Given the description of an element on the screen output the (x, y) to click on. 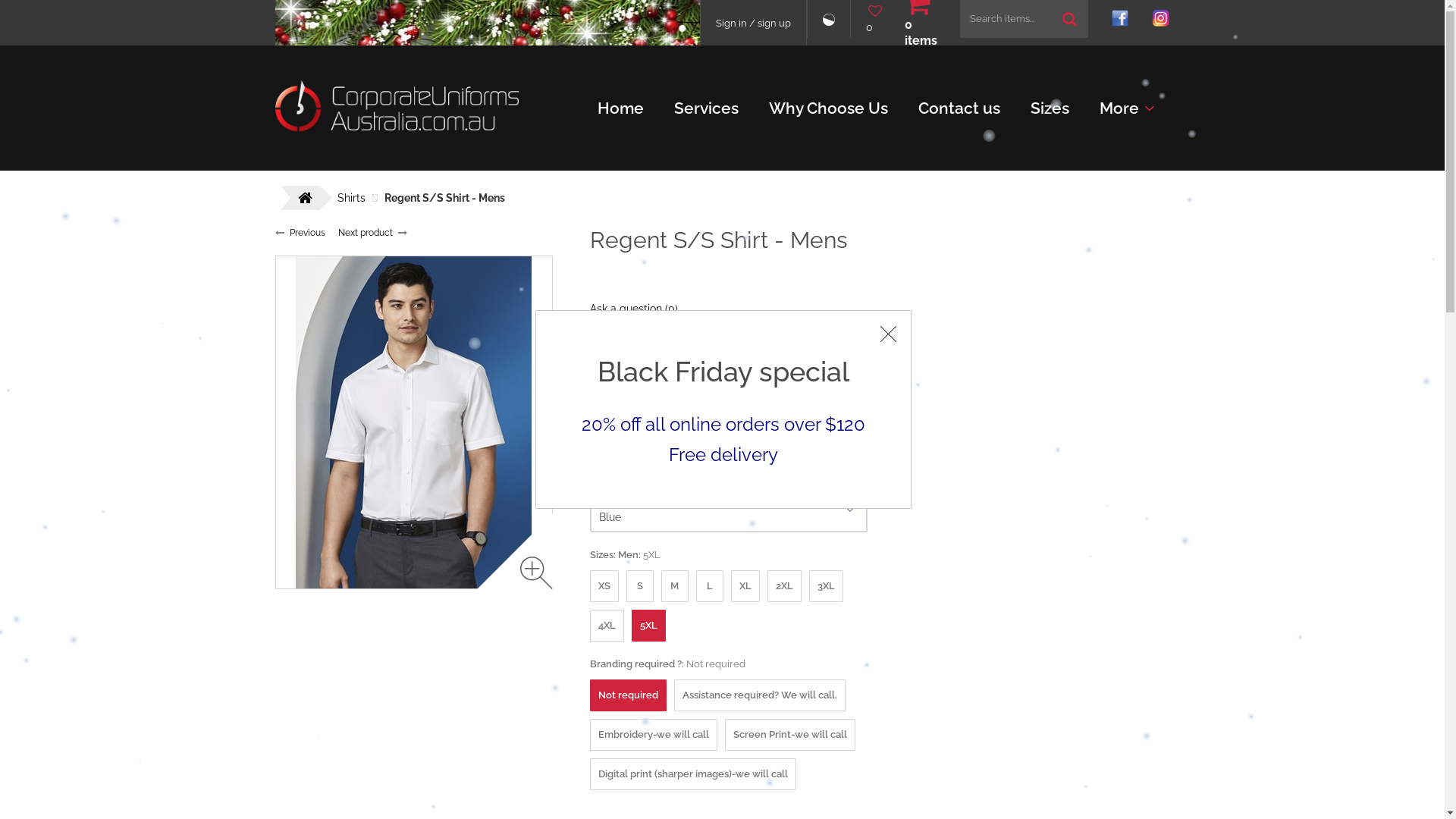
0 Element type: text (873, 18)
Please add another product to comparison Element type: hover (828, 37)
Thumbnail Element type: hover (413, 421)
Services Element type: text (705, 107)
Shirts Element type: text (350, 197)
Sizes Element type: text (1048, 107)
Sign in / sign up Element type: text (752, 22)
Next product Element type: text (365, 232)
FB Element type: text (595, 388)
Why Choose Us Element type: text (828, 107)
Contact us Element type: text (958, 107)
Home Element type: hover (398, 107)
Search Element type: hover (1069, 18)
Previous Element type: text (307, 232)
Home Element type: text (620, 107)
Ask a question (0) Element type: text (633, 308)
